Given the description of an element on the screen output the (x, y) to click on. 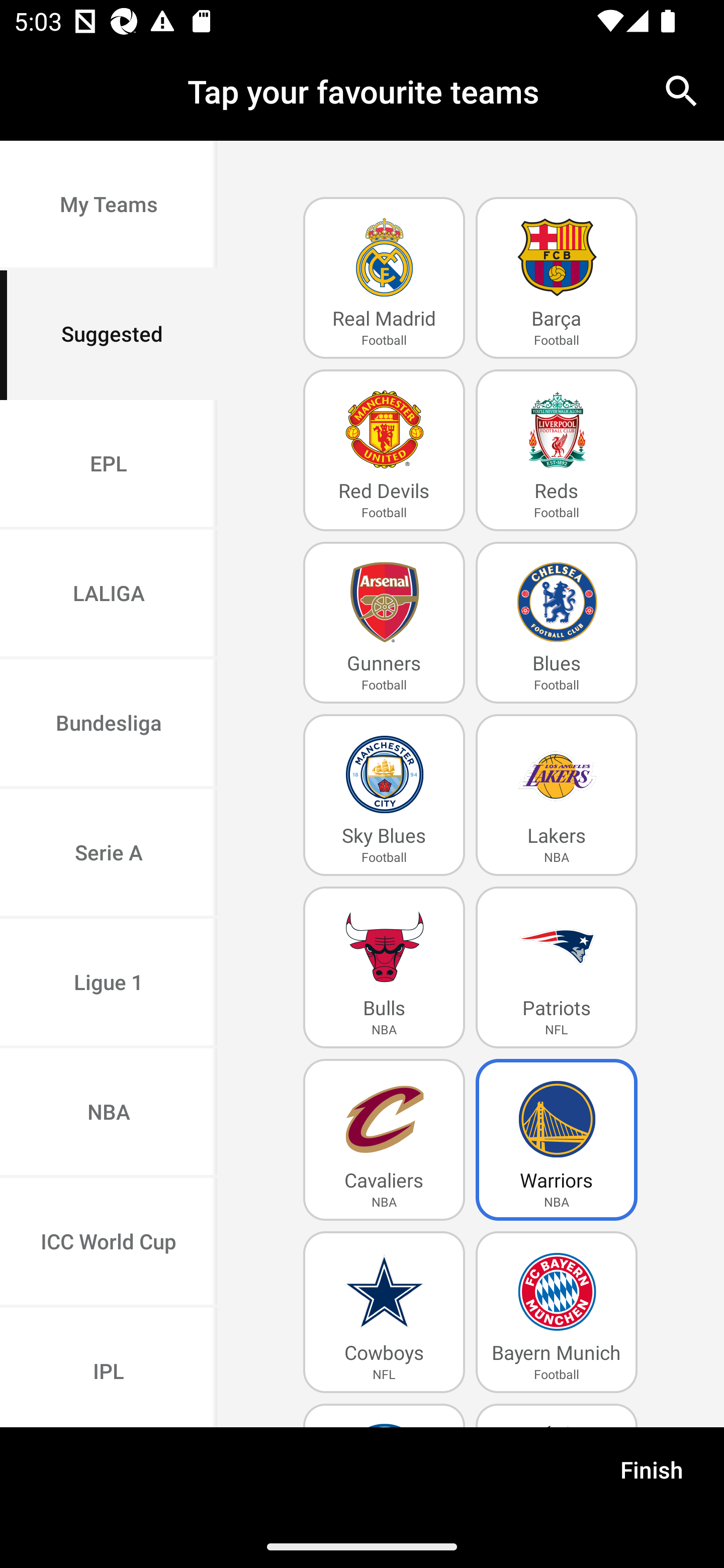
search (681, 90)
My Teams (108, 206)
Real Madrid Real Madrid Football (383, 278)
Barça Barça Football (556, 278)
Suggested (108, 334)
Red Devils Red Devils Football (383, 450)
Reds Reds Football (556, 450)
EPL (108, 464)
LALIGA (108, 594)
Gunners Gunners Football (383, 623)
Blues Blues Football (556, 623)
Bundesliga (108, 725)
Sky Blues Sky Blues Football (383, 794)
Lakers Lakers NBA (556, 794)
Serie A (108, 853)
Bulls Bulls NBA (383, 966)
Patriots Patriots NFL (556, 966)
Ligue 1 (108, 983)
NBA (108, 1113)
Cavaliers Cavaliers NBA (383, 1139)
Warriors WarriorsSelected NBA (556, 1139)
ICC World Cup (108, 1242)
Cowboys Cowboys NFL (383, 1311)
Bayern Munich Bayern Munich Football (556, 1311)
IPL (108, 1366)
Finish Finish and Close (651, 1475)
